Given the description of an element on the screen output the (x, y) to click on. 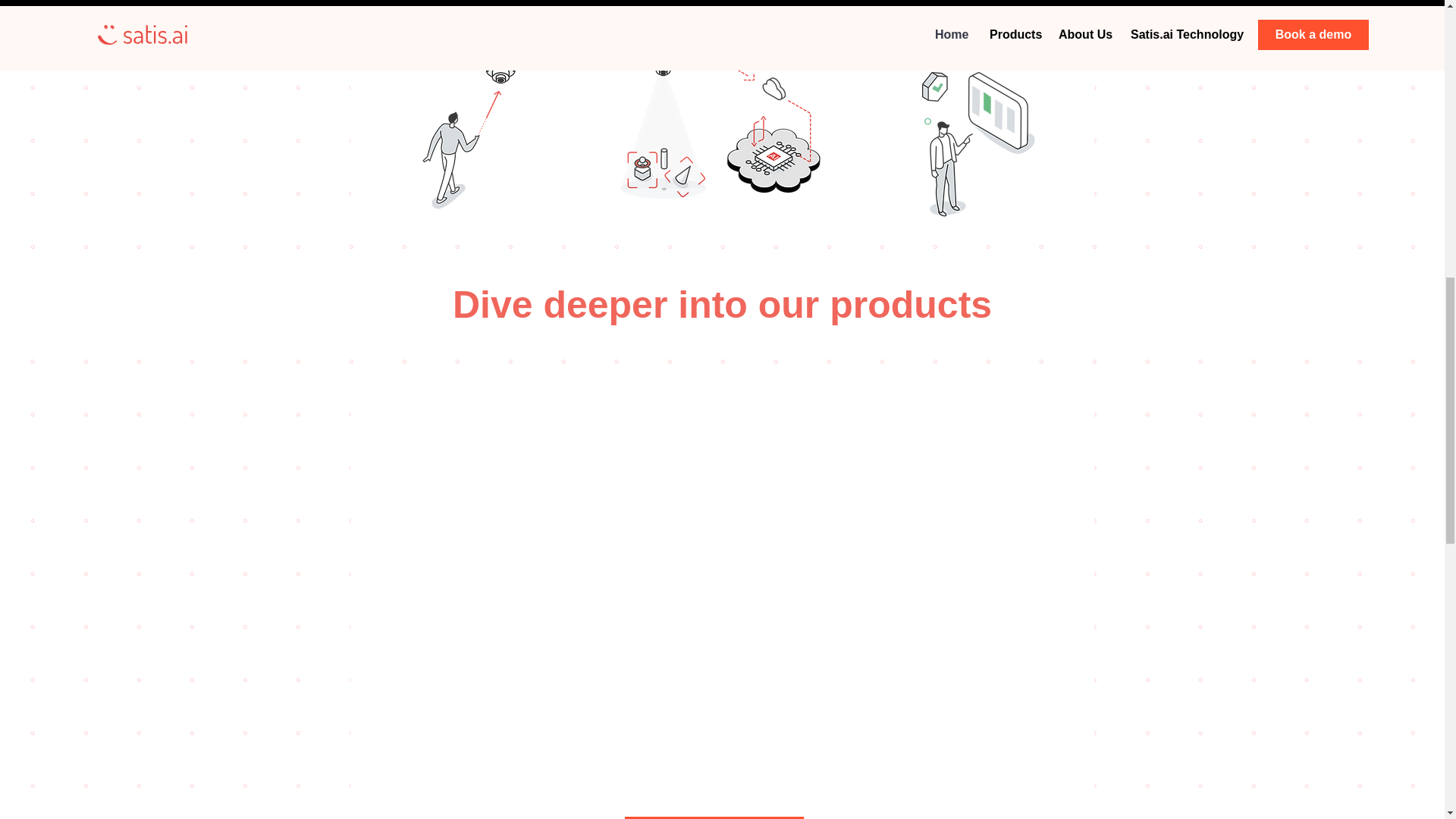
Learn More (713, 817)
